Given the description of an element on the screen output the (x, y) to click on. 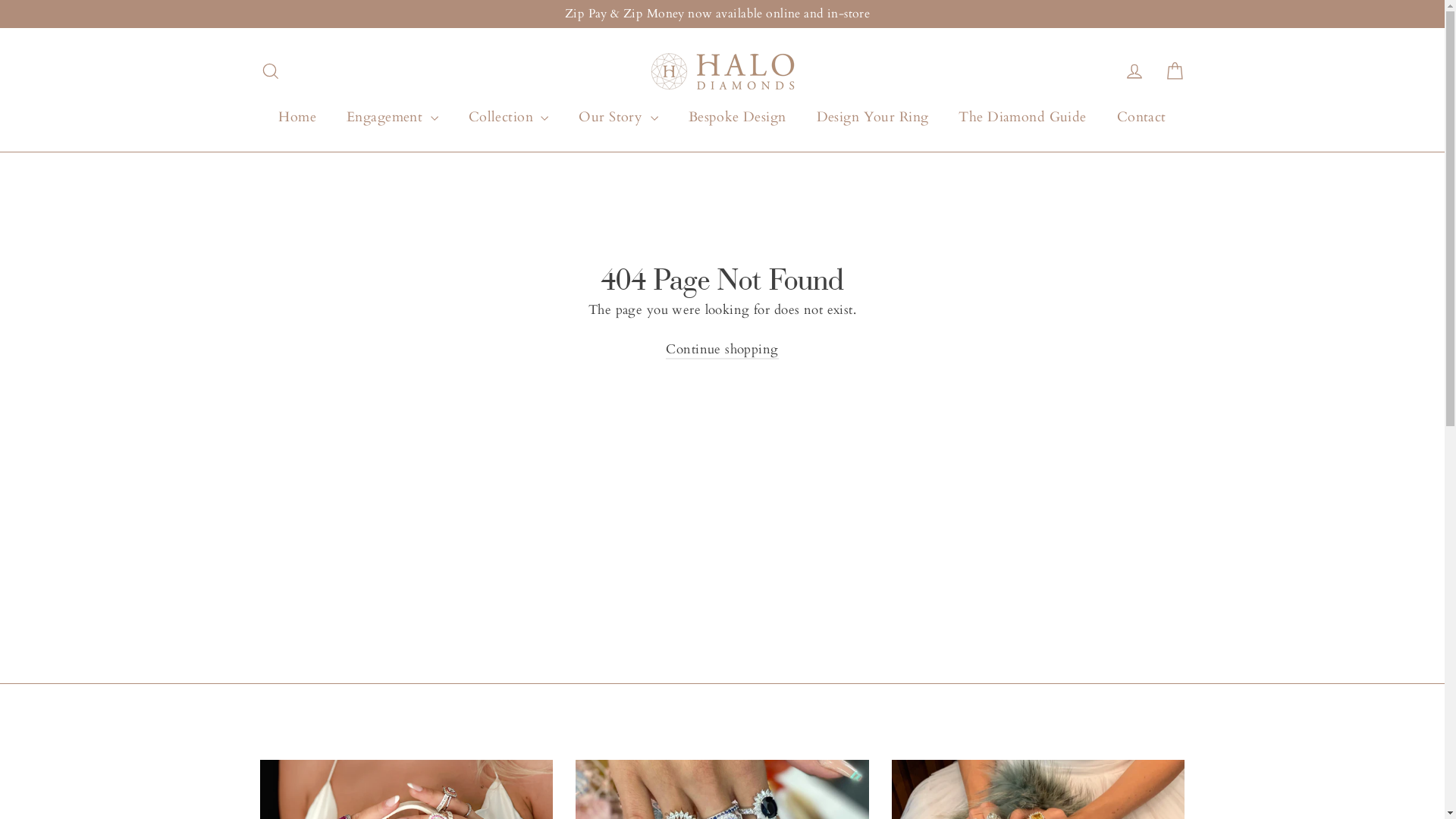
Continue shopping Element type: text (721, 349)
Skip to content Element type: text (0, 0)
Search Element type: text (269, 70)
Home Element type: text (297, 117)
Contact Element type: text (1141, 117)
The Diamond Guide Element type: text (1022, 117)
Collection Element type: text (508, 117)
Our Story Element type: text (617, 117)
Design Your Ring Element type: text (872, 117)
Cart Element type: text (1173, 70)
Log in Element type: text (1134, 70)
Bespoke Design Element type: text (737, 117)
Engagement Element type: text (392, 117)
